Given the description of an element on the screen output the (x, y) to click on. 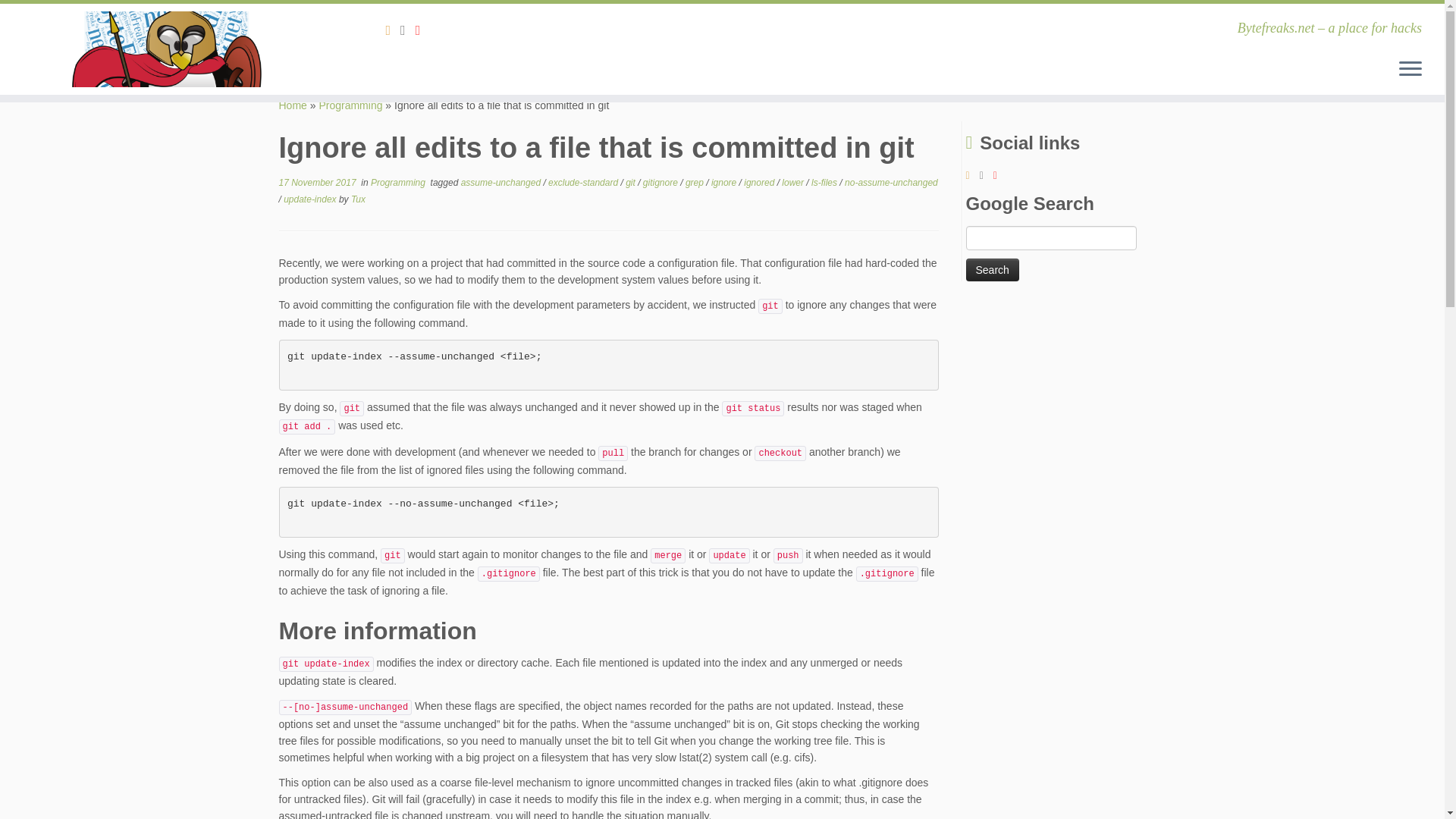
Subscribe to my rss feed (392, 29)
Open the menu (1410, 69)
View all posts in grep (695, 182)
7:15 pm (317, 182)
Programming (349, 105)
View all posts in exclude-standard (584, 182)
View all posts in ignore (725, 182)
See our creations on Google Play (407, 29)
Search (992, 269)
View all posts in git (631, 182)
